Given the description of an element on the screen output the (x, y) to click on. 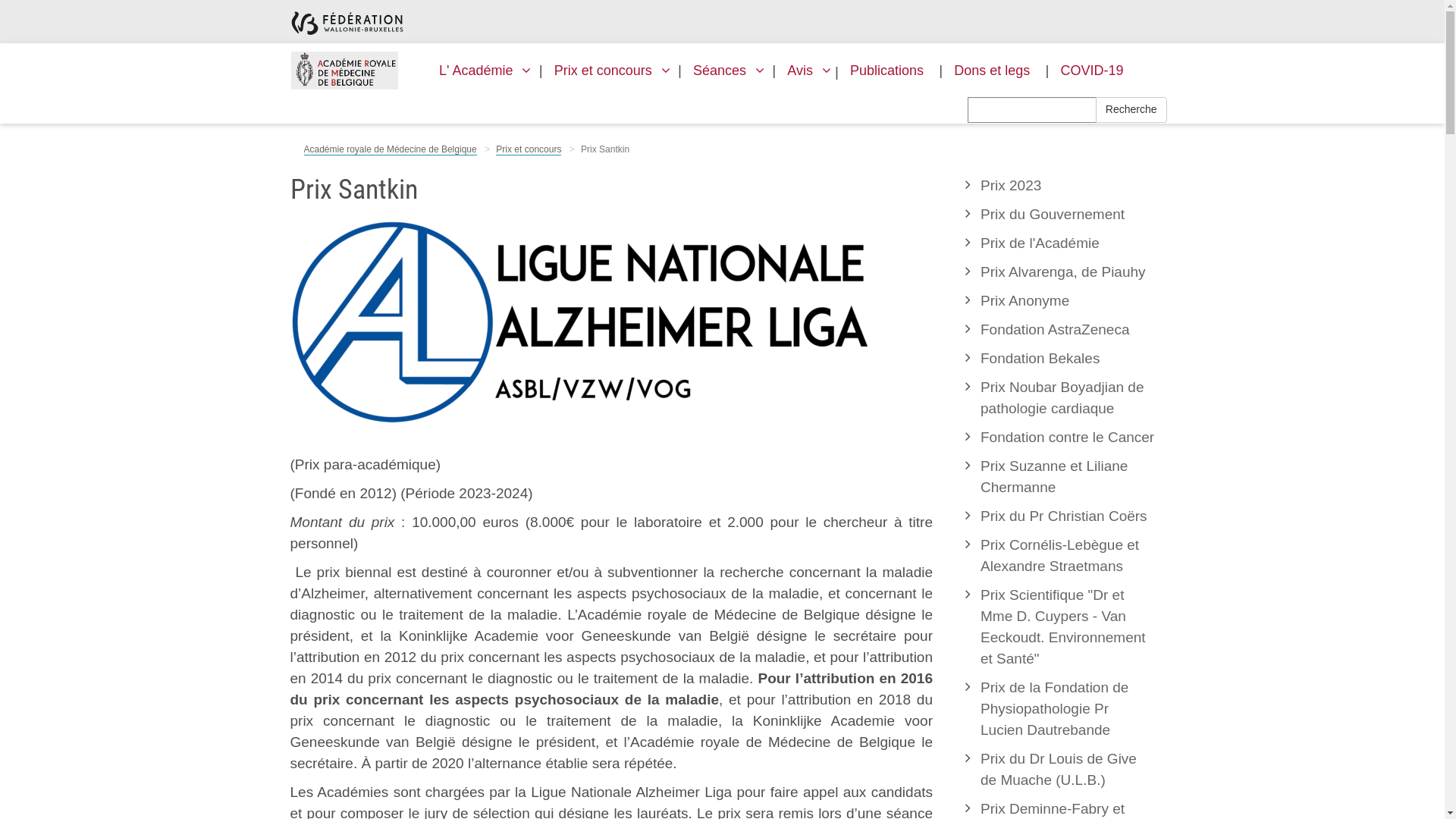
Prix Alvarenga, de Piauhy Element type: text (1067, 271)
Dons et legs Element type: text (991, 70)
Prix du Dr Louis de Give de Muache (U.L.B.) Element type: text (1067, 769)
Prix Noubar Boyadjian de pathologie cardiaque Element type: text (1067, 397)
Fondation contre le Cancer Element type: text (1067, 437)
Publications Element type: text (886, 70)
Prix Anonyme Element type: text (1067, 300)
Prix du Gouvernement Element type: text (1067, 214)
Recherche Element type: text (1131, 109)
Prix et concours Element type: text (528, 149)
Prix Suzanne et Liliane Chermanne Element type: text (1067, 476)
Prix 2023 Element type: text (1067, 185)
ARMB Element type: text (344, 70)
Prix et concours Element type: text (608, 70)
Avis Element type: text (804, 70)
COVID-19 Element type: text (1091, 70)
Fondation AstraZeneca Element type: text (1067, 329)
Fondation Bekales Element type: text (1067, 358)
